Given the description of an element on the screen output the (x, y) to click on. 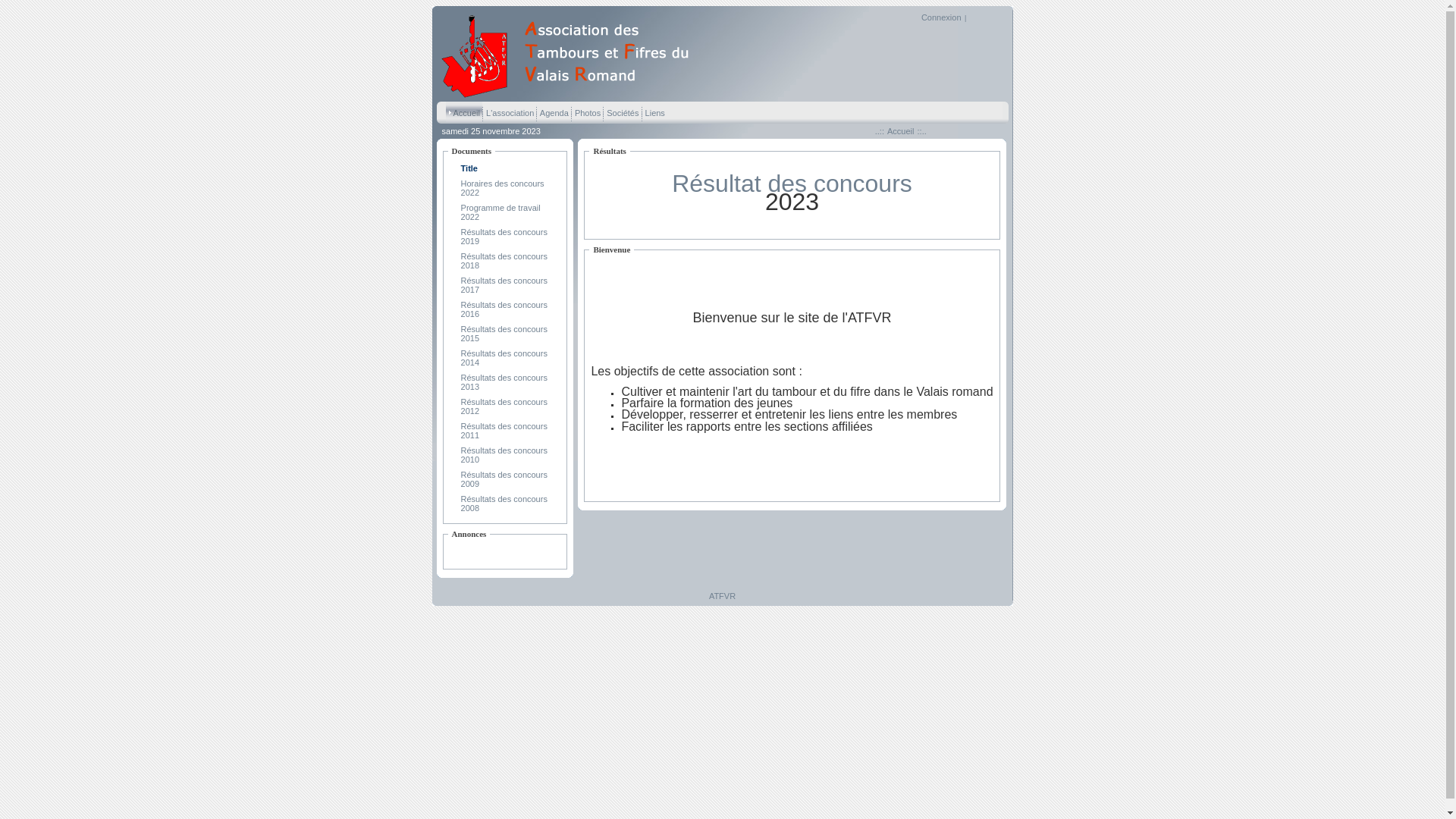
Horaires des concours 2022 Element type: text (502, 187)
 Agenda  Element type: text (553, 112)
ATFVR Element type: hover (570, 95)
 Photos  Element type: text (586, 112)
Accueil Element type: text (900, 130)
 L'association  Element type: text (509, 112)
Connexion Element type: text (941, 16)
Accueil  Element type: text (464, 112)
 Liens  Element type: text (654, 112)
Programme de travail 2022 Element type: text (500, 212)
